Given the description of an element on the screen output the (x, y) to click on. 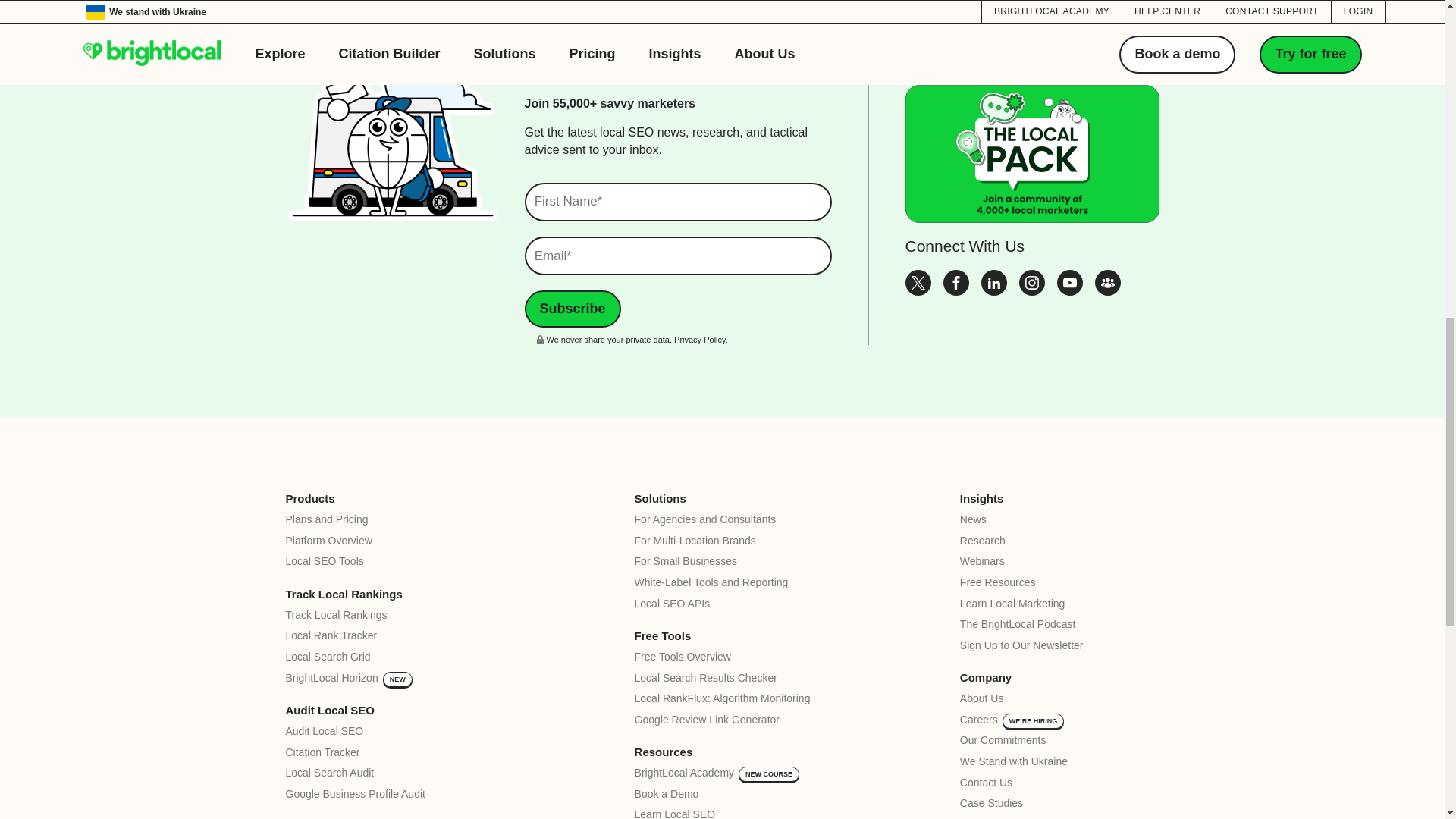
Twitter (918, 291)
Subscribe (572, 308)
Linkedin (994, 291)
YouTube (1070, 291)
Privacy Policy (699, 338)
Instagram (1032, 291)
Facebook (956, 291)
The Local Pack (1107, 291)
